Given the description of an element on the screen output the (x, y) to click on. 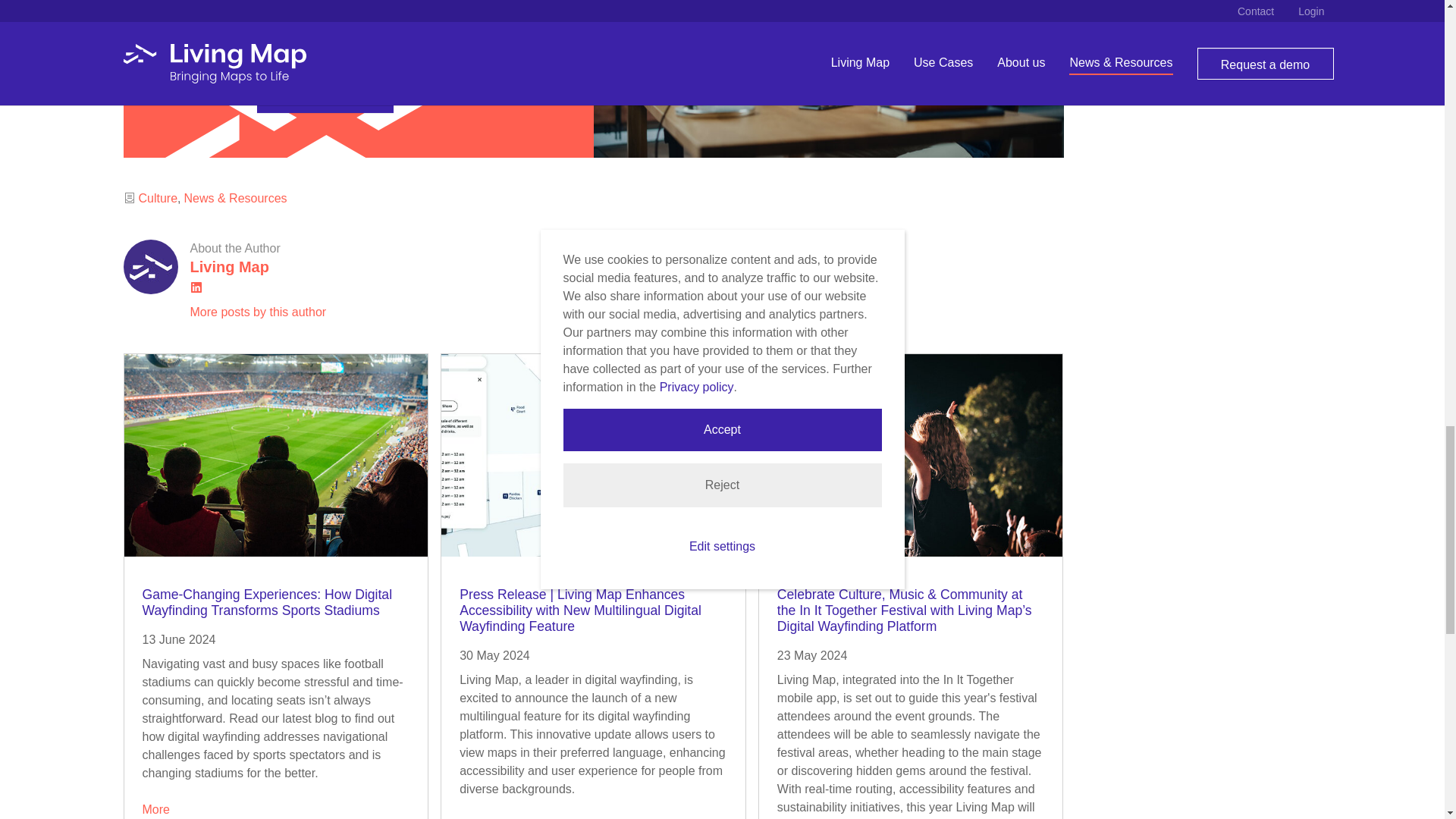
More (156, 809)
Living Map (228, 266)
Request a demo (324, 97)
Culture (157, 197)
More posts by this author (257, 311)
